Given the description of an element on the screen output the (x, y) to click on. 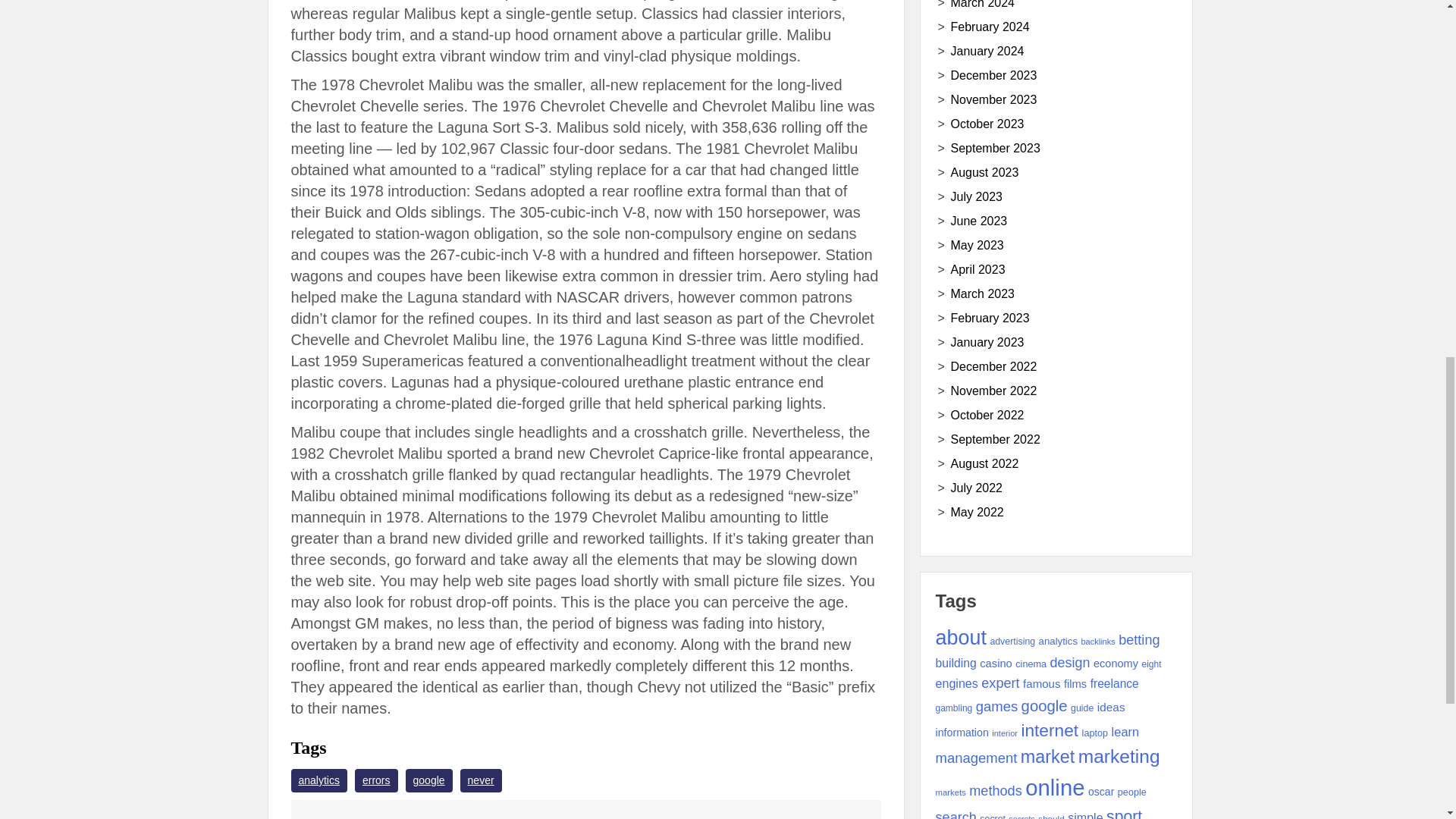
analytics (319, 780)
December 2023 (993, 74)
google (429, 780)
January 2024 (987, 51)
March 2024 (982, 4)
never (481, 780)
February 2024 (989, 26)
errors (376, 780)
November 2023 (993, 99)
